Given the description of an element on the screen output the (x, y) to click on. 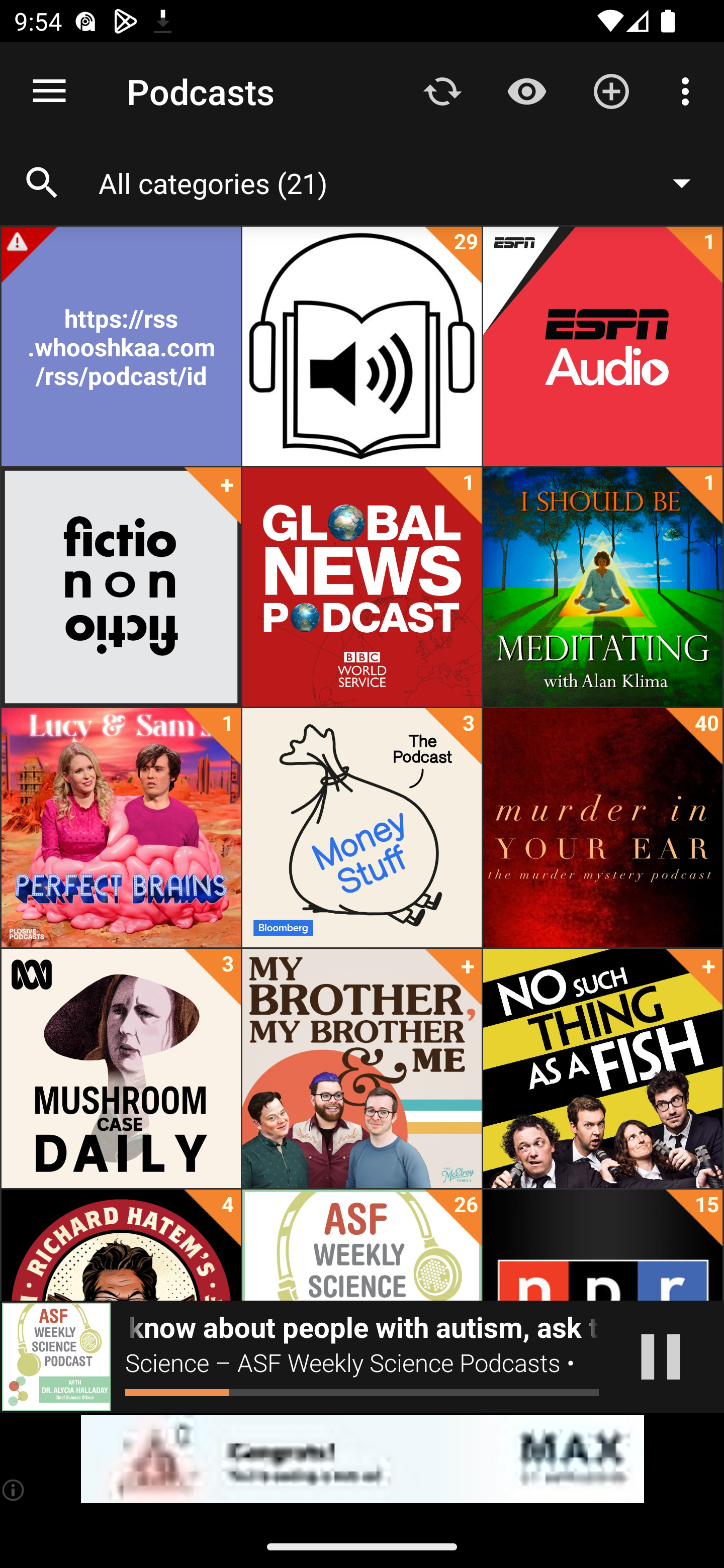
Open navigation sidebar (49, 91)
Update (442, 90)
Show / Hide played content (526, 90)
Add new Podcast (611, 90)
More options (688, 90)
Search (42, 183)
All categories (21) (404, 182)
https://rss.whooshkaa.com/rss/podcast/id/5884 (121, 346)
Audiobooks 29 (361, 346)
ESPN Audio 1 (602, 346)
fiction/non/fiction + (121, 587)
Global News Podcast 1 (361, 587)
Lucy & Sam's Perfect Brains 1 (121, 827)
Money Stuff: The Podcast 3 (361, 827)
Murder In Your Ear-The Murder Mystery Podcast 40 (602, 827)
Mushroom Case Daily 3 (121, 1068)
My Brother, My Brother And Me + (361, 1068)
No Such Thing As A Fish + (602, 1068)
Play / Pause (660, 1356)
app-monetization (362, 1459)
(i) (14, 1489)
